Given the description of an element on the screen output the (x, y) to click on. 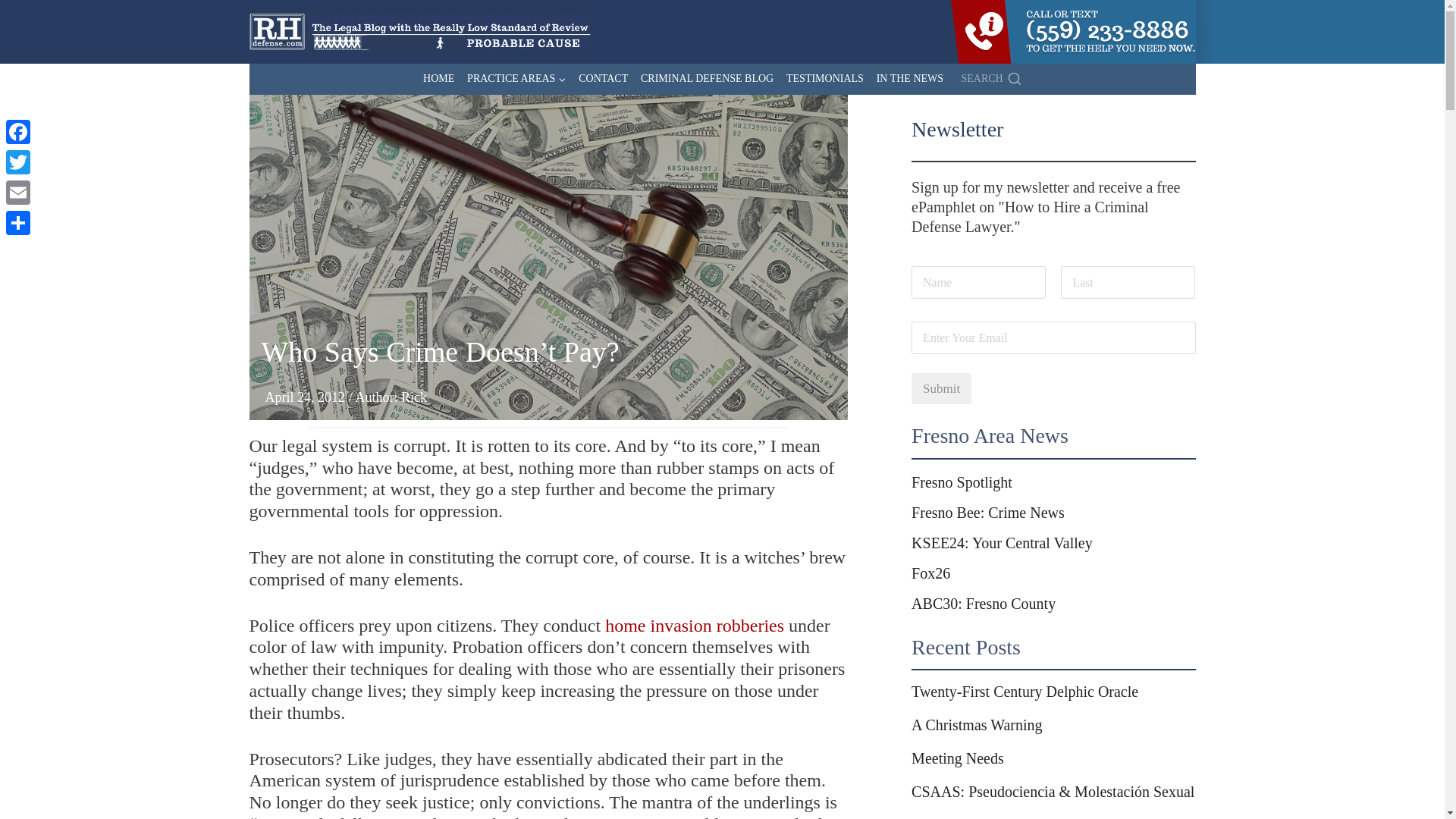
CRIMINAL DEFENSE BLOG (707, 79)
home invasion robberies (694, 625)
No Knock Raids: Militarizing the police (694, 625)
PRACTICE AREAS (516, 79)
TESTIMONIALS (825, 79)
IN THE NEWS (909, 79)
CONTACT (603, 79)
  SEARCH (988, 78)
HOME (438, 79)
